Given the description of an element on the screen output the (x, y) to click on. 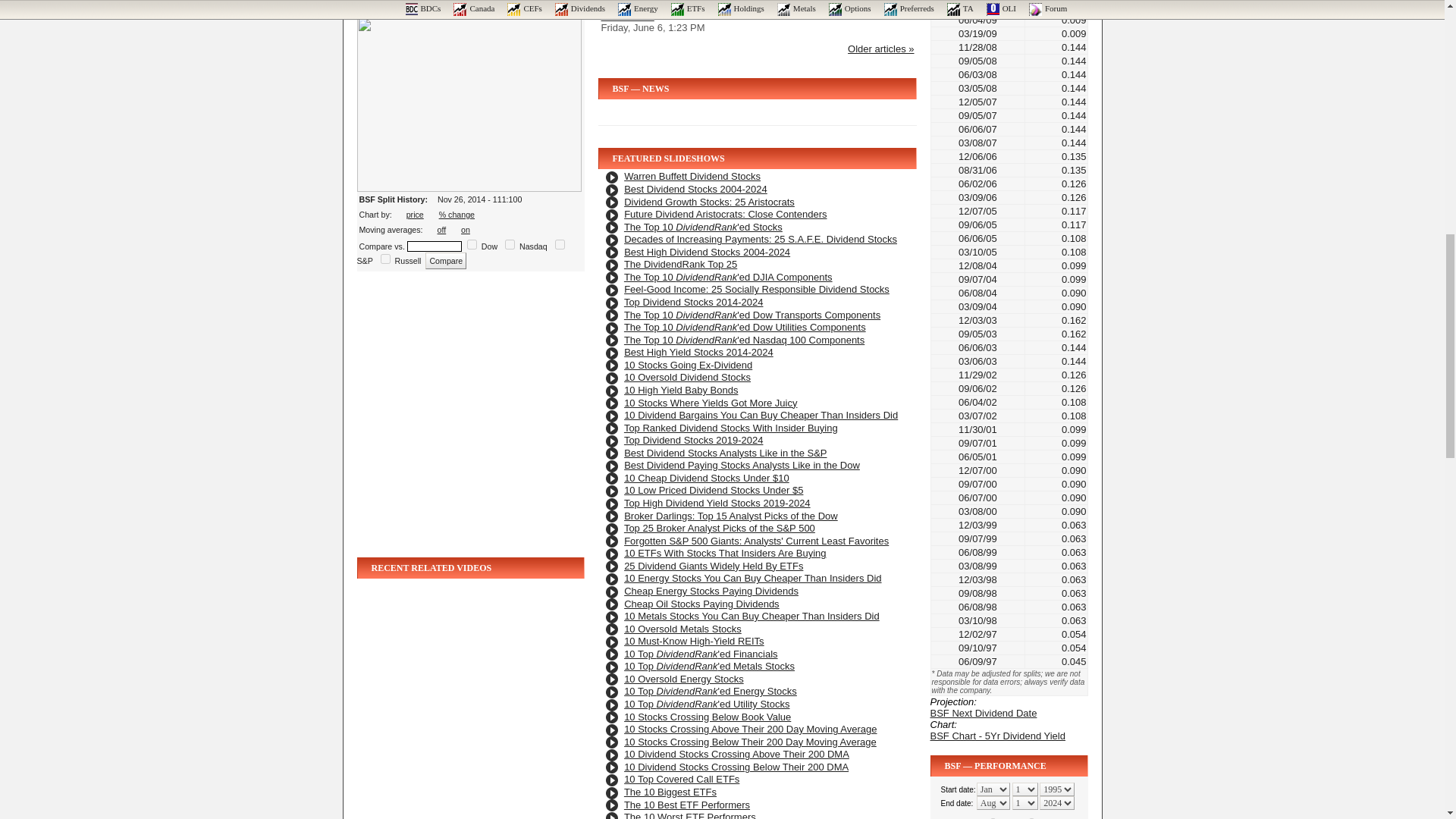
Compare (445, 260)
on (559, 244)
price (414, 214)
on (385, 258)
on (510, 244)
Compare (445, 260)
on (465, 229)
off (442, 229)
on (472, 244)
